Given the description of an element on the screen output the (x, y) to click on. 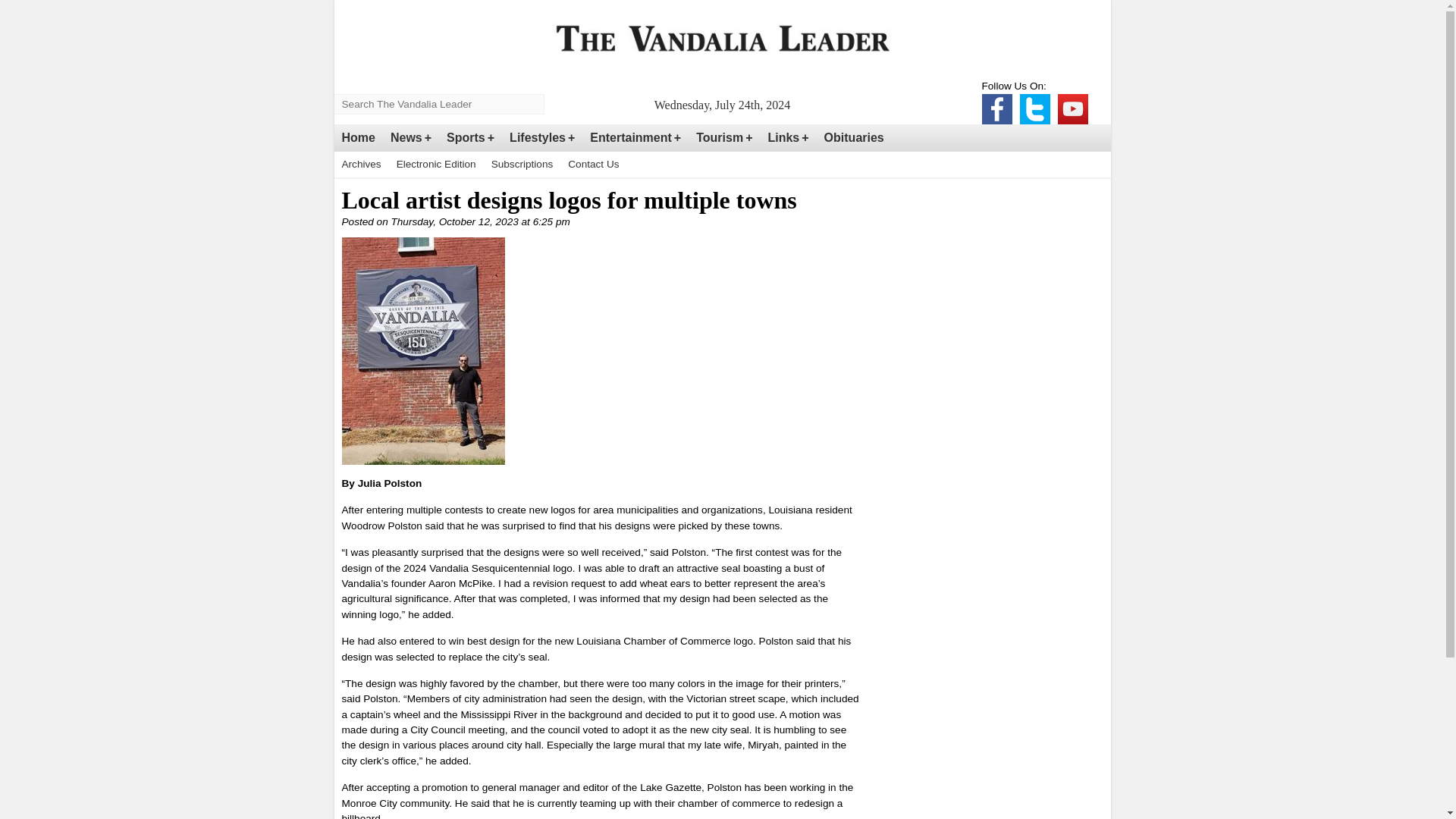
Electronic Edition (435, 164)
Sports (470, 137)
Archives (360, 164)
Lifestyles (542, 137)
Entertainment (635, 137)
Subscriptions (521, 164)
Obituaries (853, 137)
Links (787, 137)
Home (357, 137)
News (410, 137)
Tourism (724, 137)
